Given the description of an element on the screen output the (x, y) to click on. 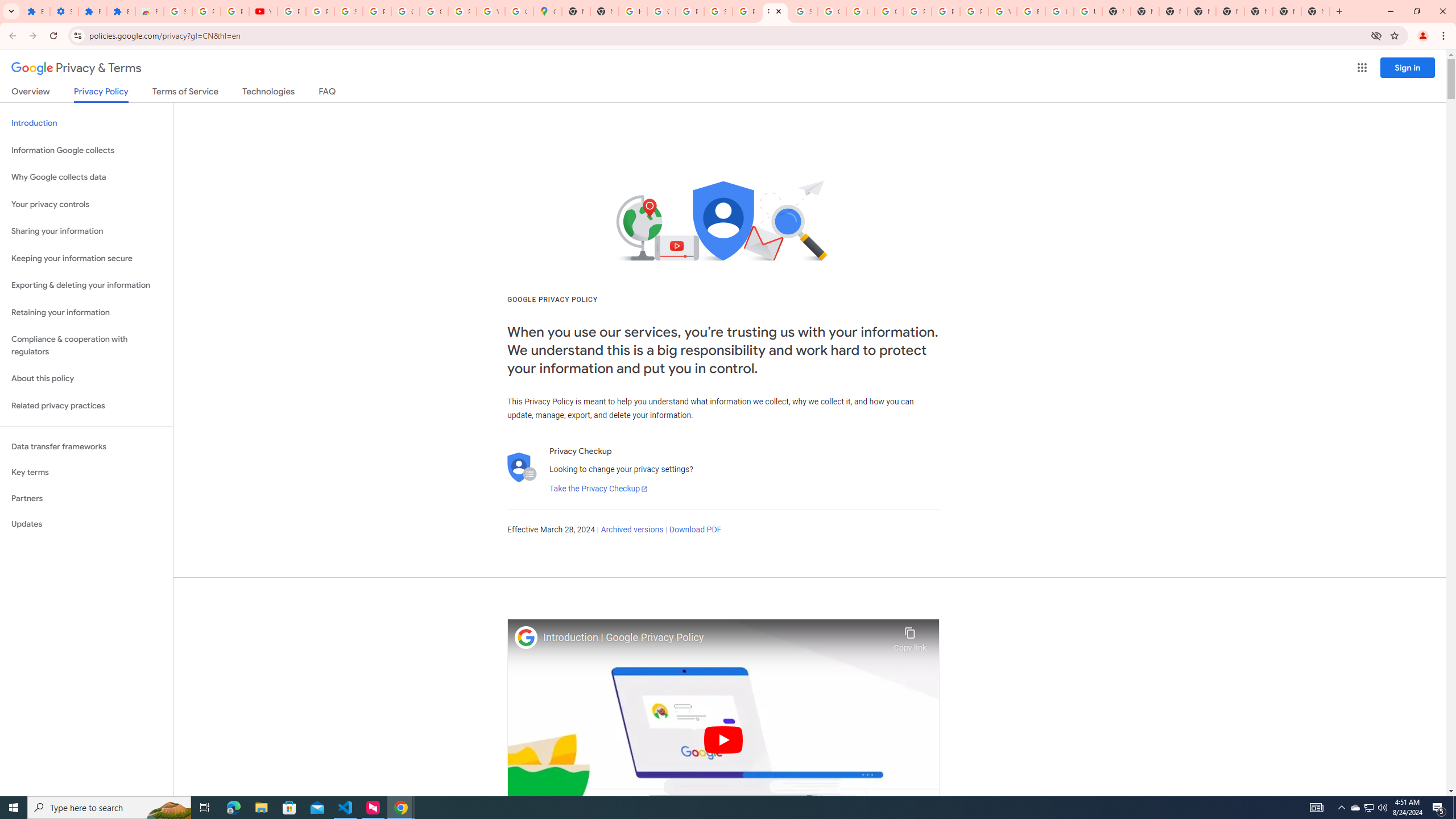
New Tab (1315, 11)
Sign in - Google Accounts (803, 11)
